Given the description of an element on the screen output the (x, y) to click on. 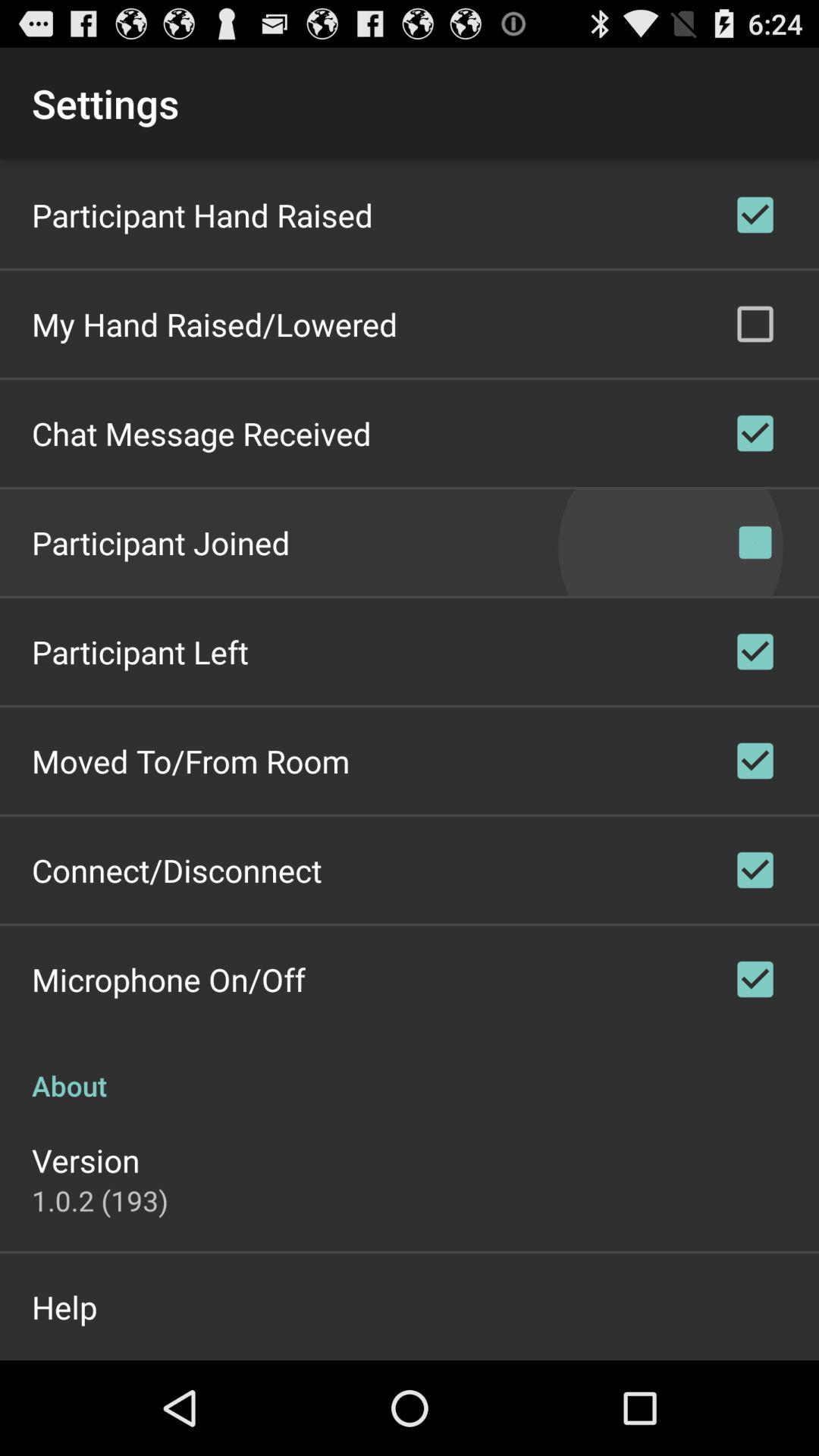
turn on the chat message received item (201, 433)
